Given the description of an element on the screen output the (x, y) to click on. 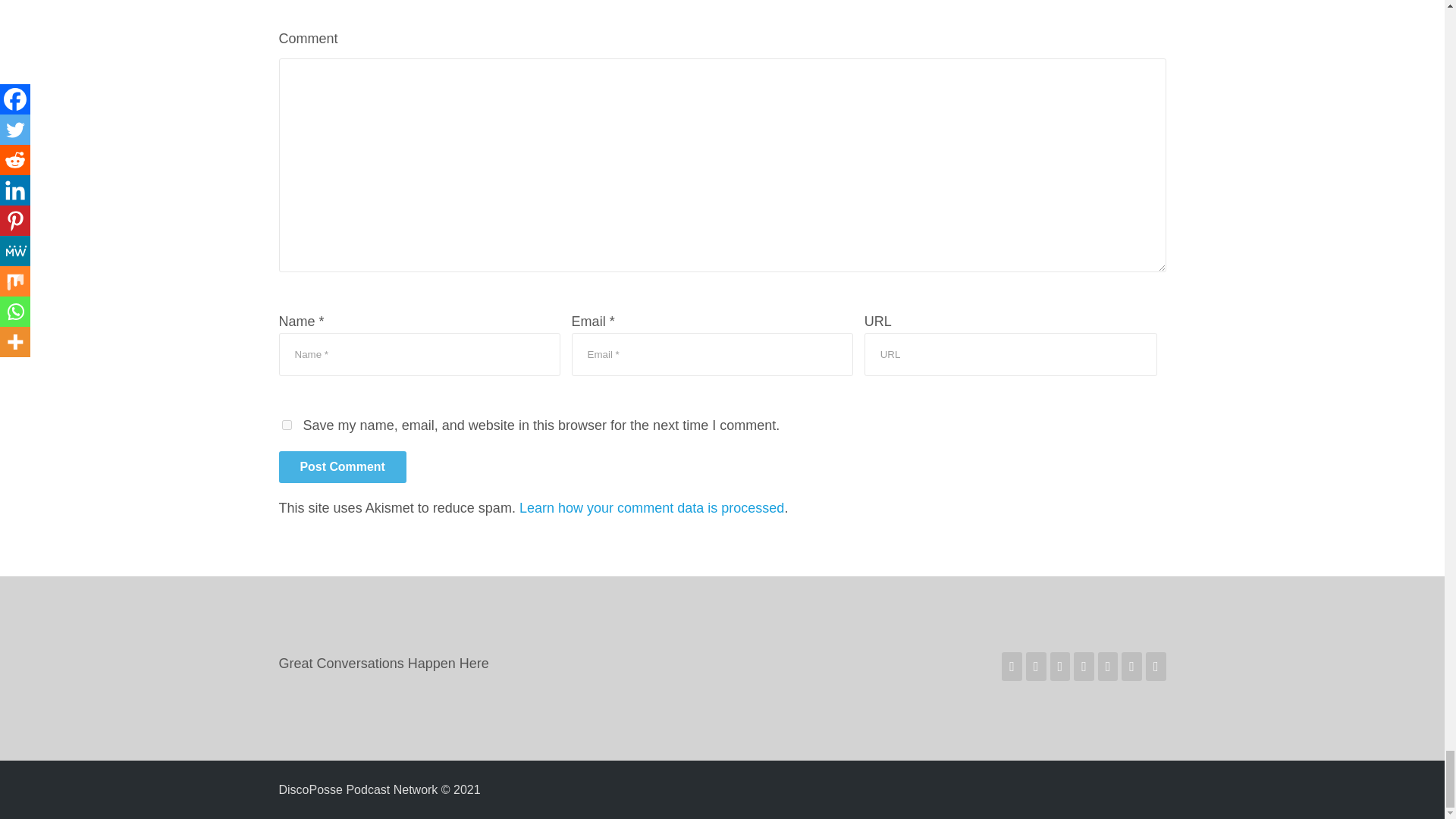
Post Comment (342, 467)
yes (287, 424)
